Given the description of an element on the screen output the (x, y) to click on. 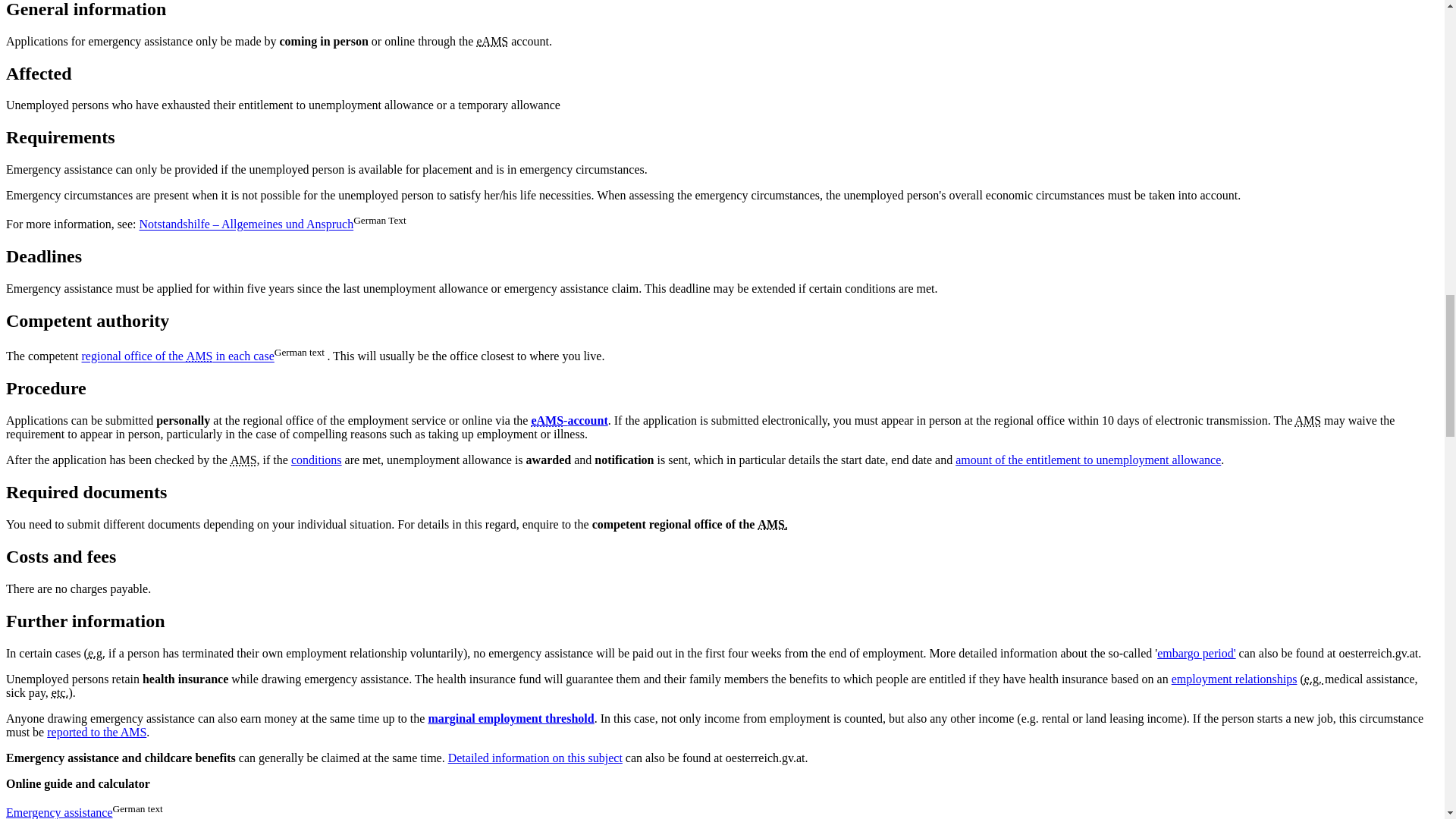
Arbeitsmarktservice (199, 356)
Opens in a new Tab (178, 356)
example given (1314, 678)
example given (95, 653)
Arbeitsmarktservice (1307, 420)
Arbeitsmarktservice (770, 523)
Arbeitsmarktservice (494, 41)
Arbeitsmarktservice (243, 459)
et cetera (59, 692)
